Given the description of an element on the screen output the (x, y) to click on. 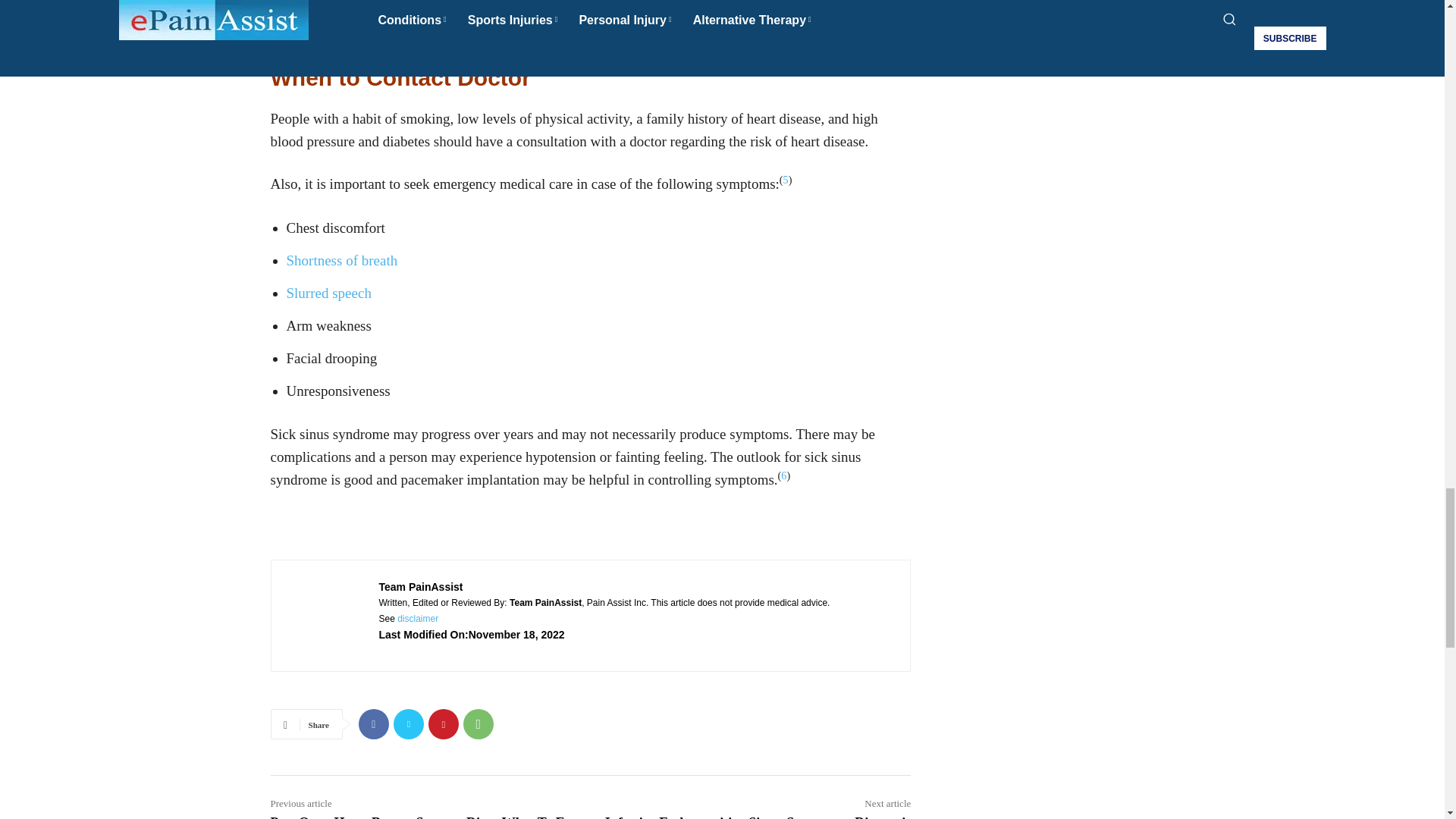
Pinterest (443, 724)
Twitter (408, 724)
Team PainAssist (325, 615)
WhatsApp (478, 724)
Facebook (373, 724)
